Given the description of an element on the screen output the (x, y) to click on. 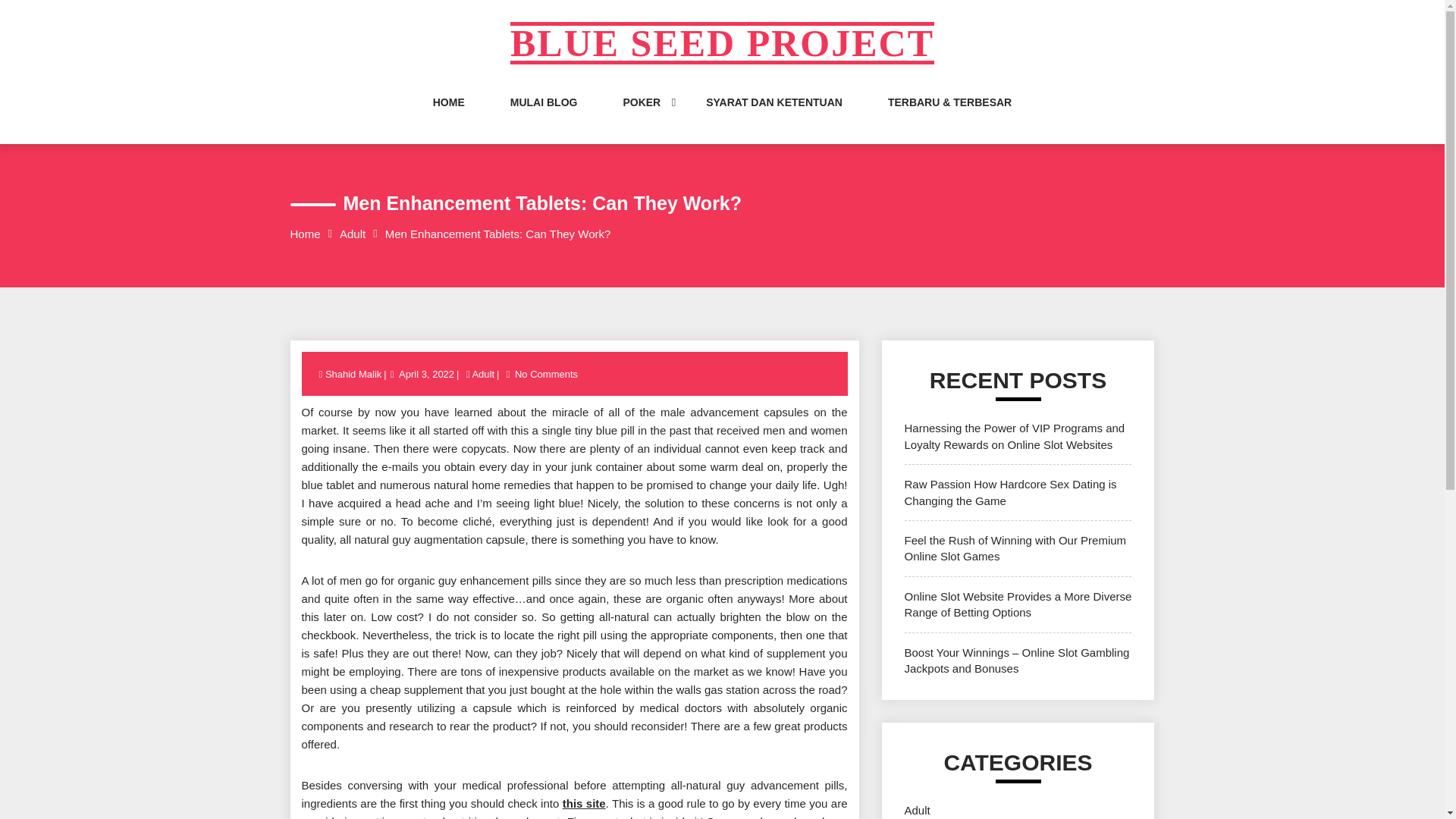
Adult (917, 809)
SYARAT DAN KETENTUAN (774, 117)
Adult (482, 374)
No Comments (545, 374)
Home (304, 233)
Shahid Malik (354, 374)
Adult (352, 233)
MULAI BLOG (544, 117)
BLUE SEED PROJECT (722, 43)
